Given the description of an element on the screen output the (x, y) to click on. 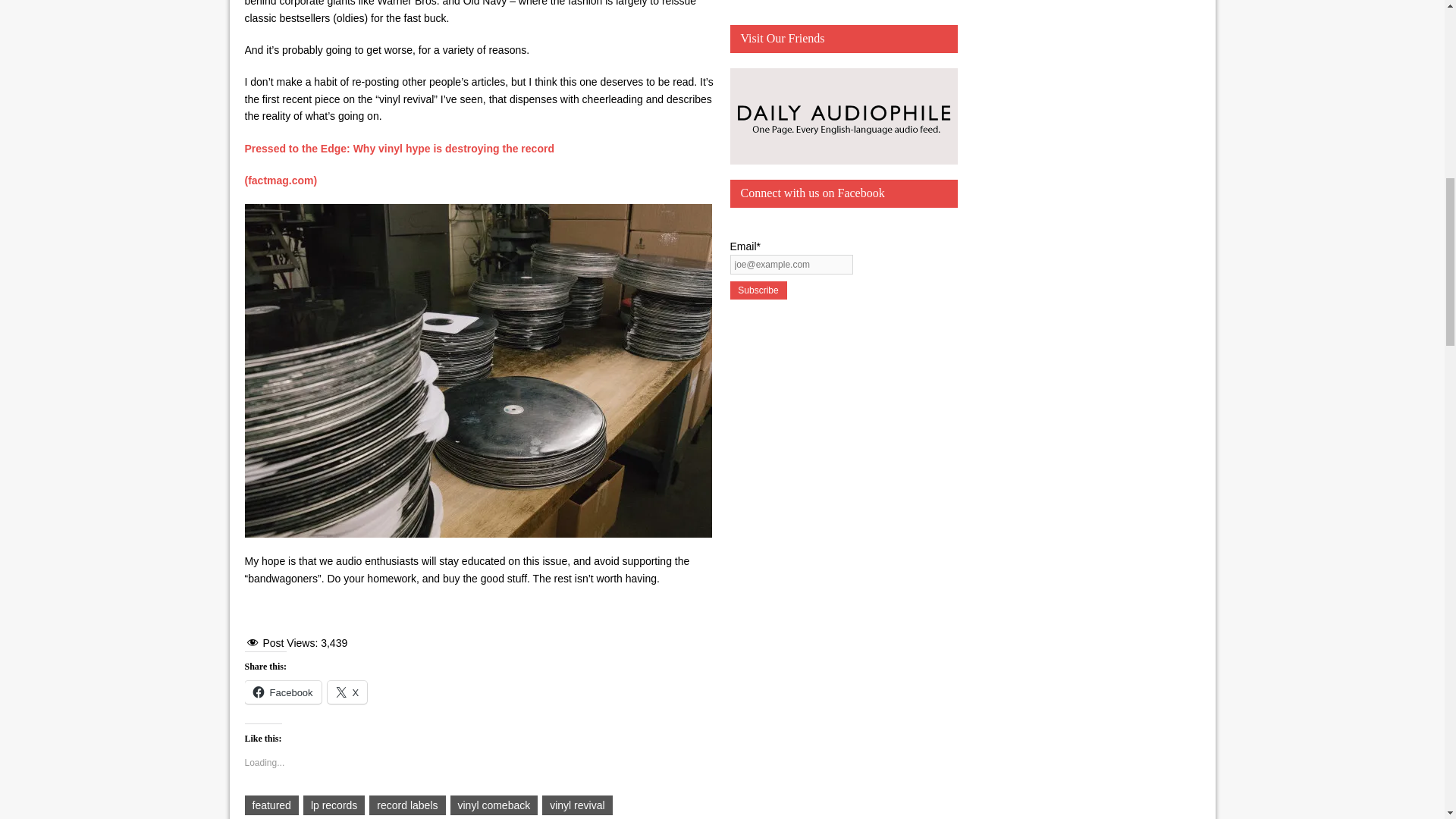
Click to share on Facebook (282, 691)
Click to share on X (347, 691)
Advertisement (842, 4)
Subscribe (757, 290)
